Given the description of an element on the screen output the (x, y) to click on. 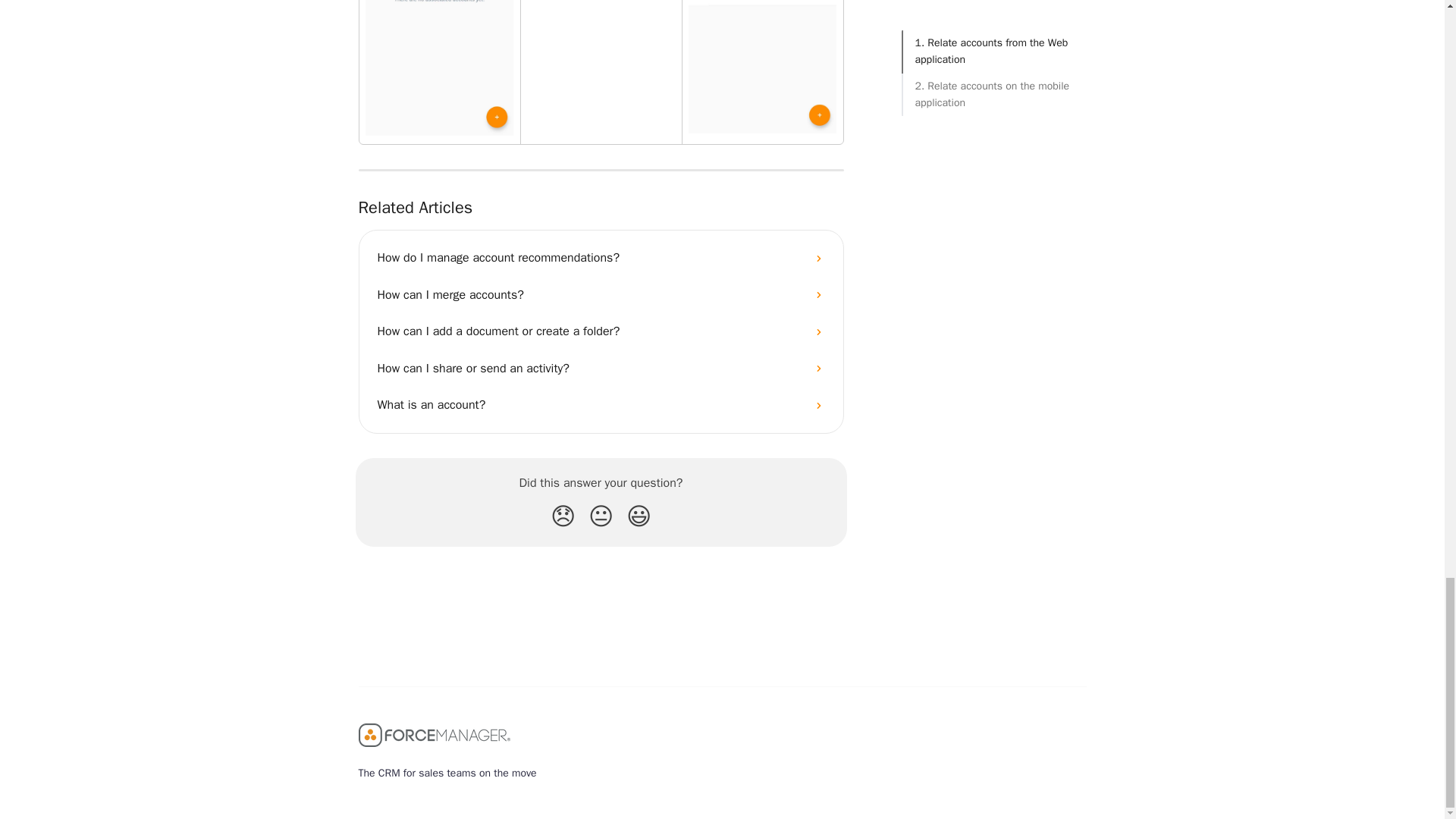
How do I manage account recommendations? (601, 257)
How can I merge accounts? (601, 294)
What is an account? (601, 404)
How can I share or send an activity? (601, 368)
How can I add a document or create a folder? (601, 330)
